Given the description of an element on the screen output the (x, y) to click on. 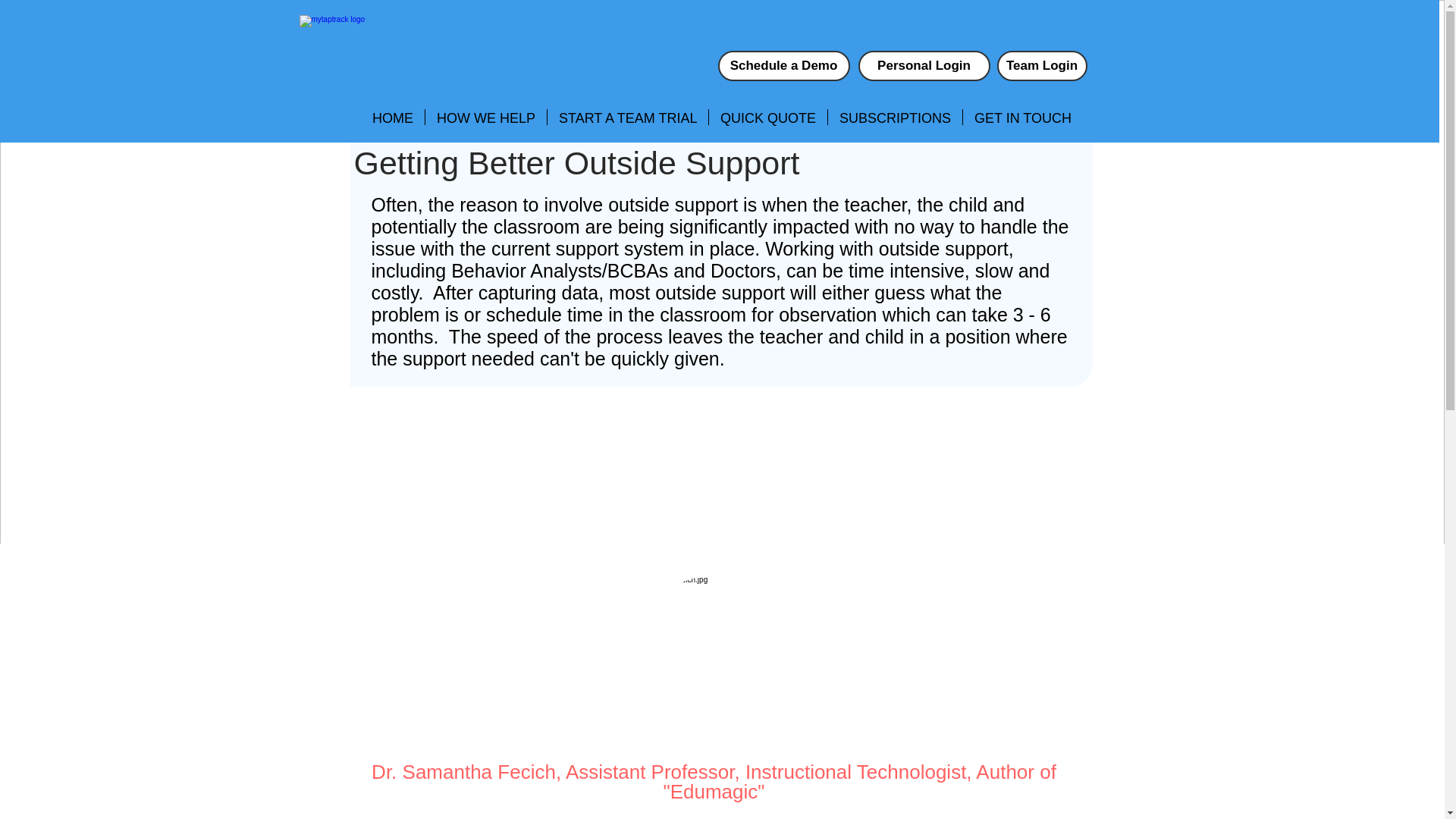
Personal Login (924, 65)
HOW WE HELP (486, 116)
START A TEAM TRIAL (627, 116)
GettyImages-124893619.jpg (713, 651)
Team Login (1040, 65)
HOME (393, 116)
GET IN TOUCH (1022, 116)
QUICK QUOTE (768, 116)
Schedule a Demo (782, 65)
SUBSCRIPTIONS (895, 116)
